Given the description of an element on the screen output the (x, y) to click on. 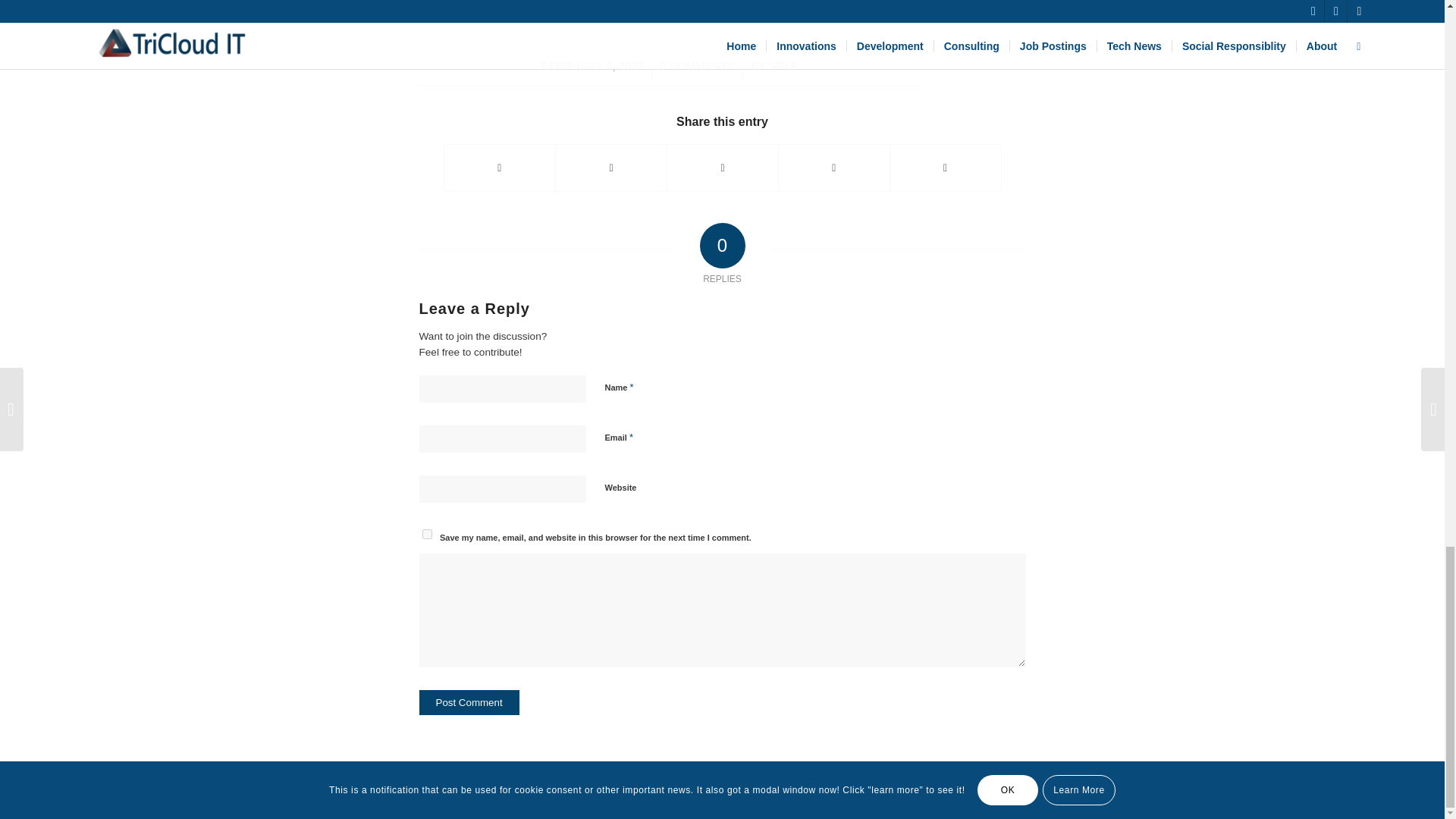
Post Comment (468, 702)
0 COMMENTS (697, 65)
Posts by Sri P (782, 65)
yes (426, 533)
SRI P (782, 65)
Post Comment (468, 702)
